Given the description of an element on the screen output the (x, y) to click on. 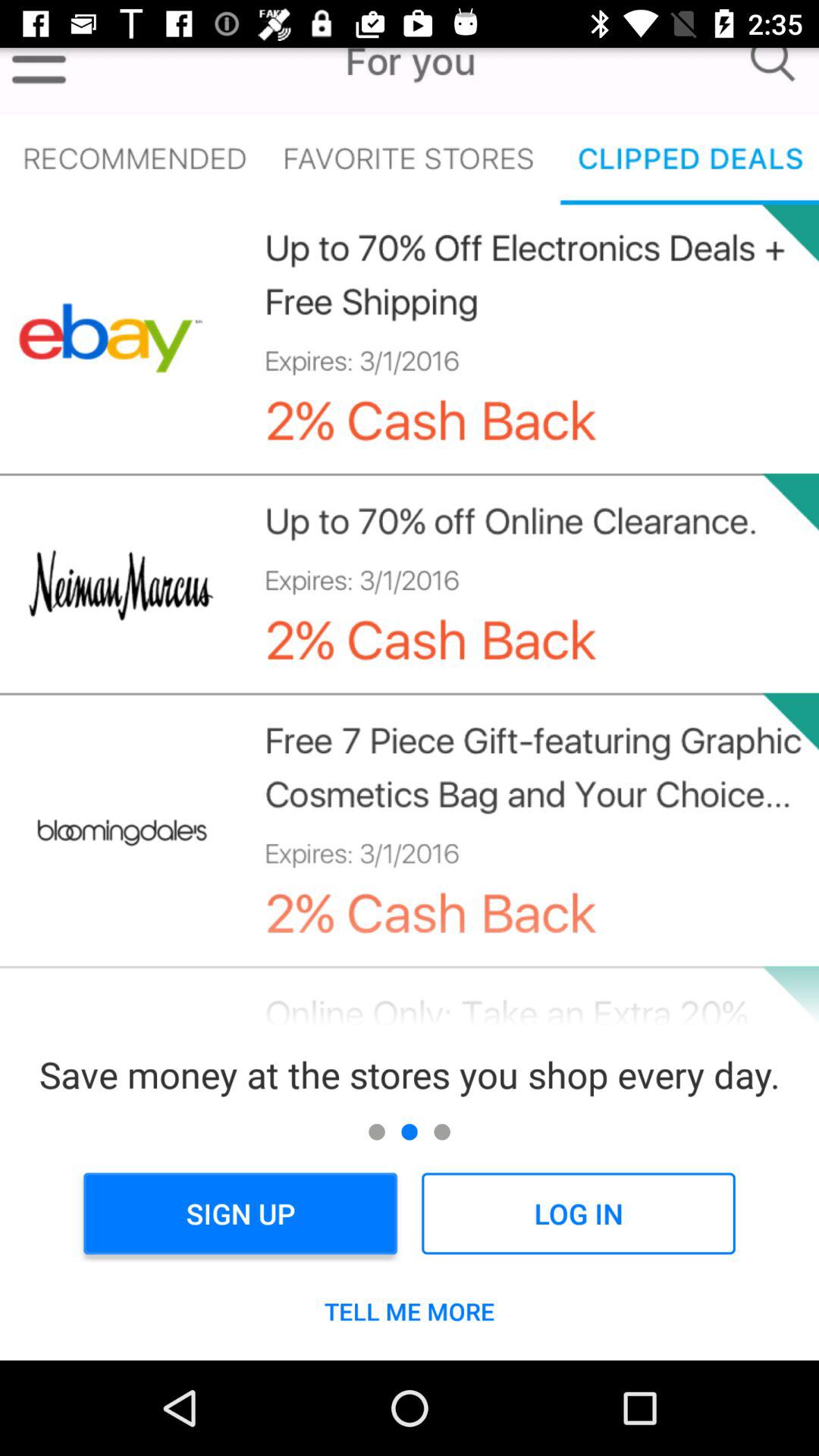
tap the icon to the right of sign up (578, 1213)
